Given the description of an element on the screen output the (x, y) to click on. 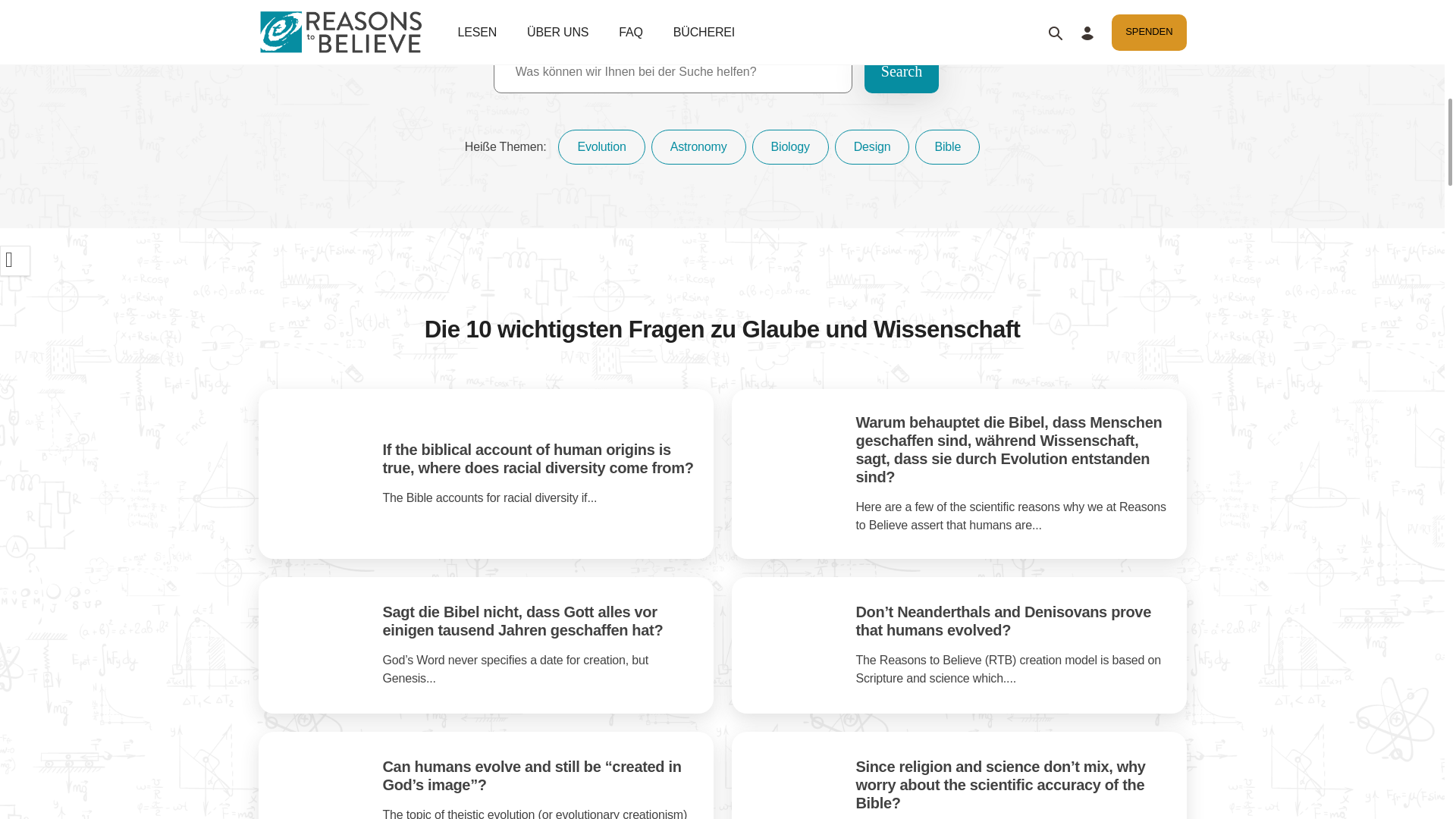
Biology (790, 146)
Design (872, 146)
Astronomy (697, 146)
Search (901, 71)
Bible (947, 146)
Search (901, 71)
Evolution (601, 146)
